Given the description of an element on the screen output the (x, y) to click on. 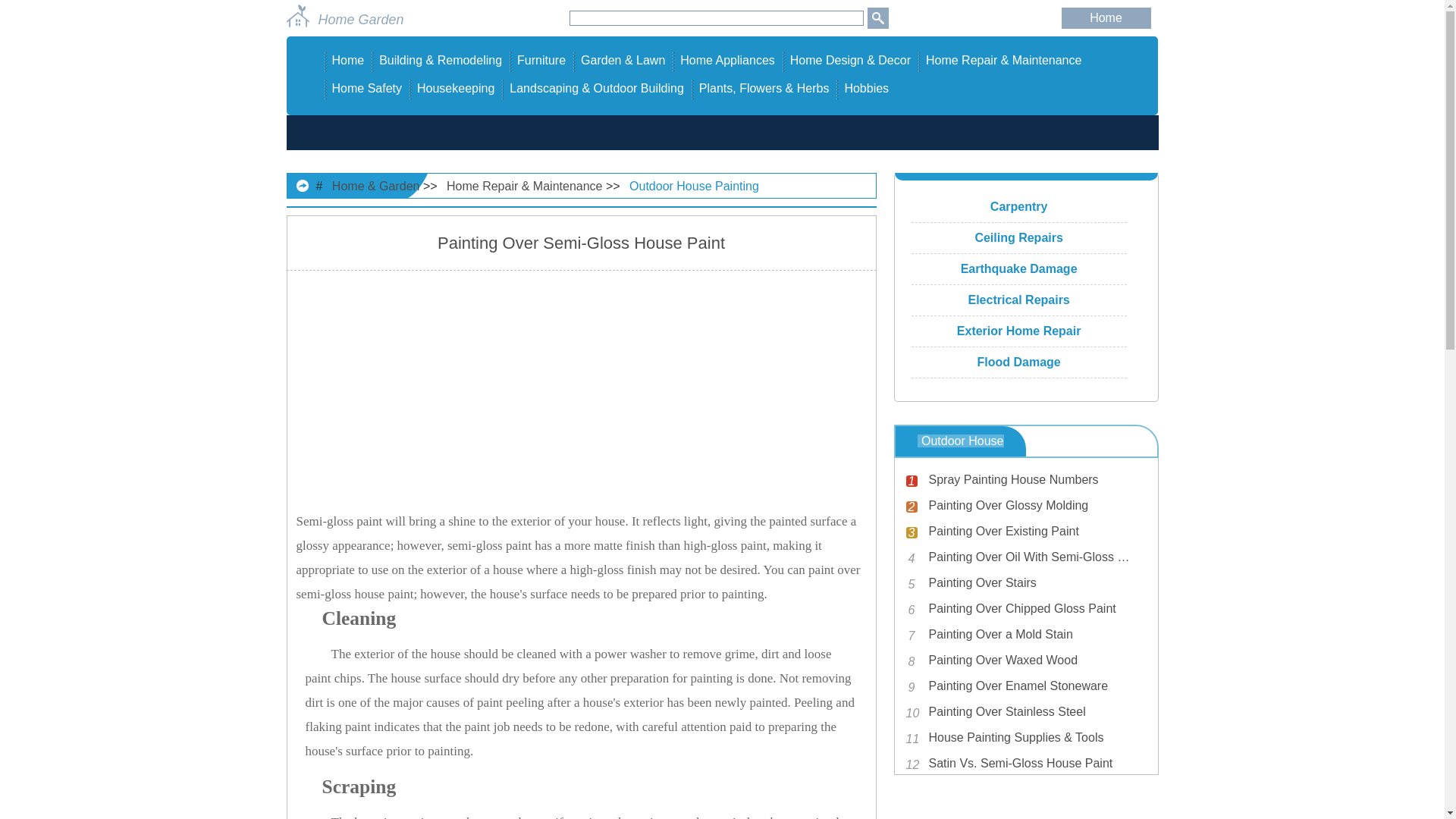
Housekeeping (455, 88)
Home (348, 60)
Hobbies (866, 88)
Painting Over Glossy Molding (1028, 505)
Home (1105, 17)
Painting Over Stairs (1028, 582)
Painting Over Oil With Semi-Gloss Latex (1028, 557)
Satin Vs. Semi-Gloss House Paint (1028, 762)
Carpentry (1018, 206)
Ceiling Repairs (1018, 237)
